Given the description of an element on the screen output the (x, y) to click on. 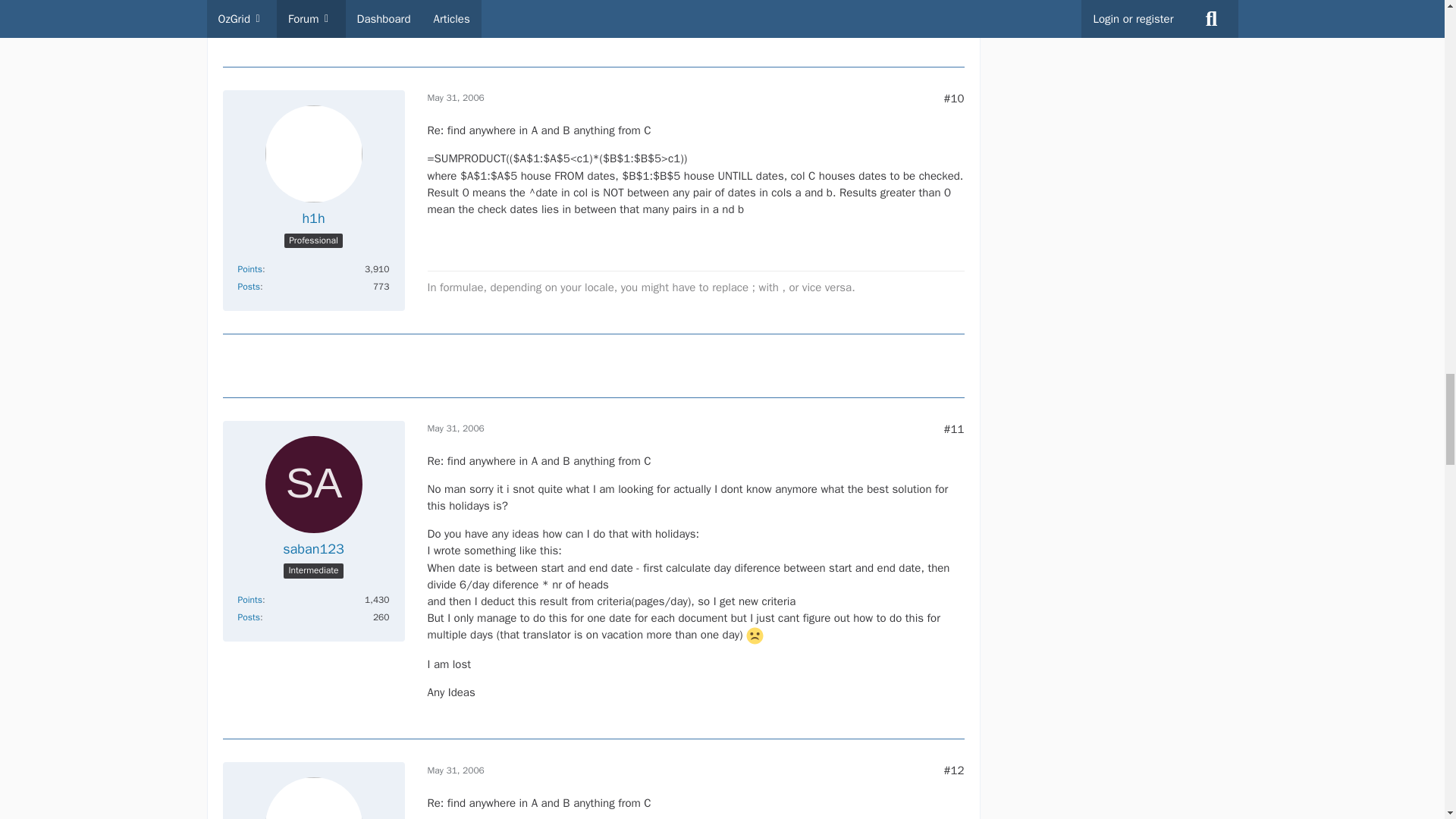
sad (753, 635)
